Given the description of an element on the screen output the (x, y) to click on. 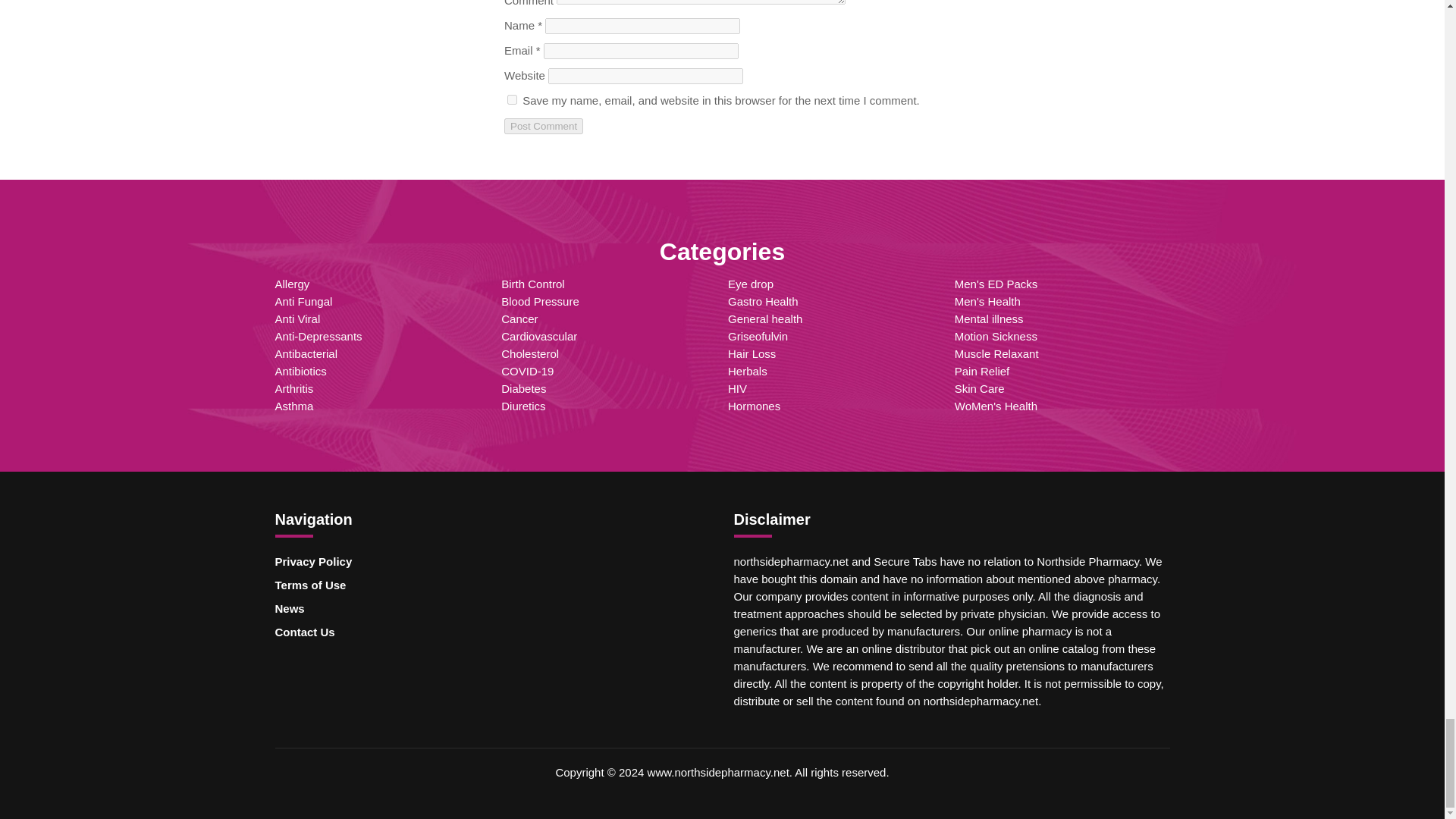
Post Comment (543, 125)
yes (511, 99)
